Given the description of an element on the screen output the (x, y) to click on. 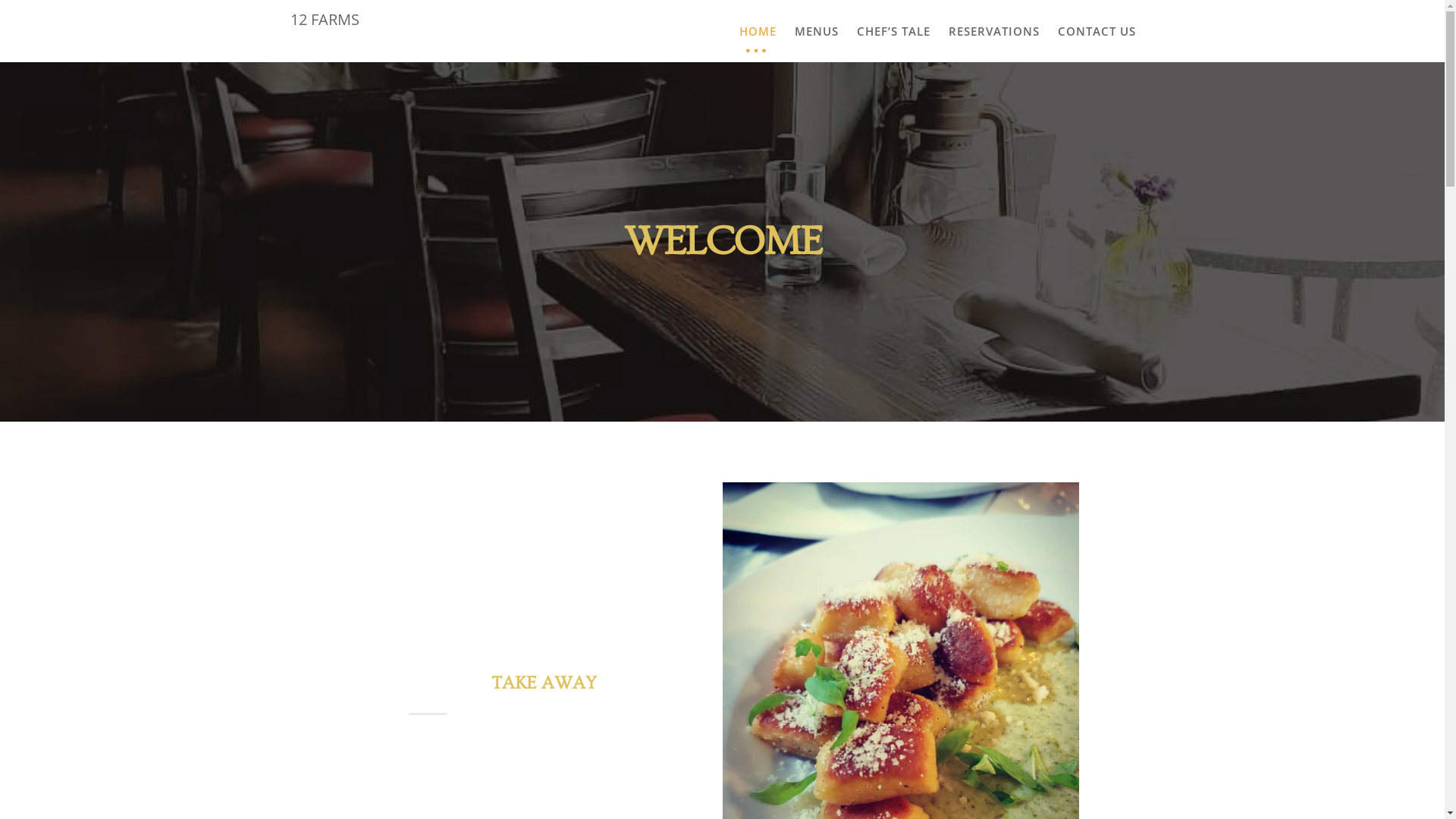
MENUS Element type: text (816, 30)
TAKE AWAY Element type: text (543, 682)
CONTACT US Element type: text (1095, 30)
HOME Element type: text (757, 30)
RESERVATIONS Element type: text (993, 30)
12 FARMS Element type: text (323, 19)
